Given the description of an element on the screen output the (x, y) to click on. 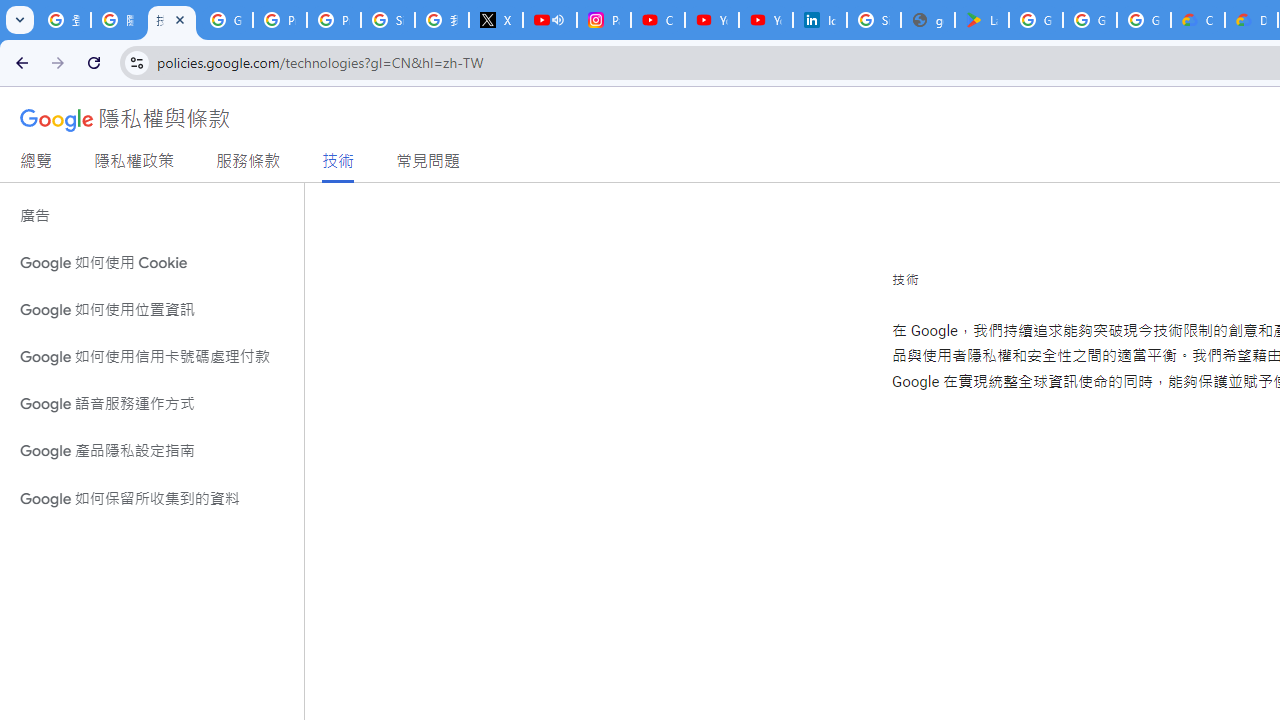
Customer Care | Google Cloud (1197, 20)
